Given the description of an element on the screen output the (x, y) to click on. 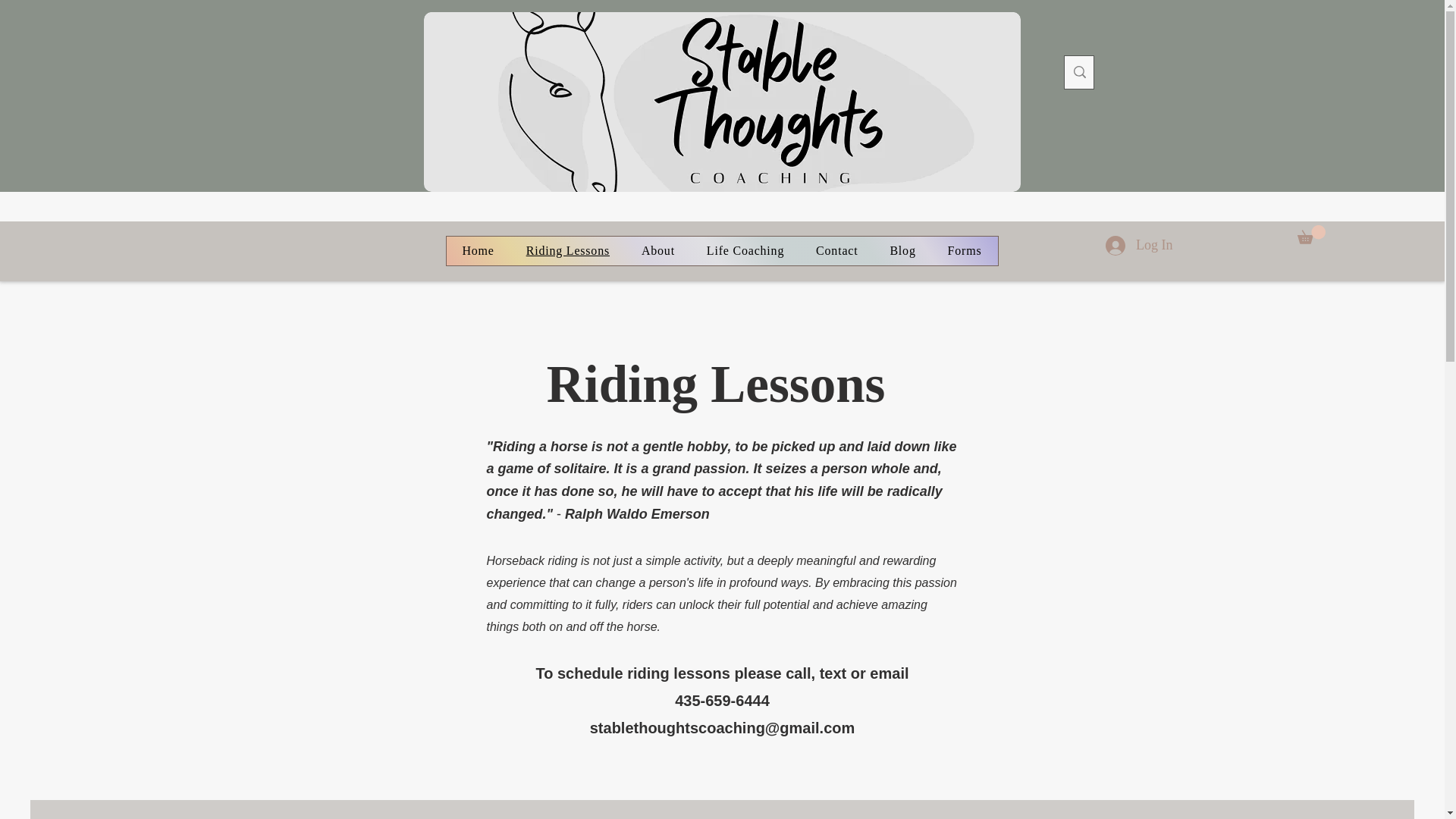
Riding Lessons (568, 250)
Log In (1138, 245)
Contact (836, 250)
Home (477, 250)
Blog (902, 250)
Forms (964, 250)
About (658, 250)
Life Coaching (744, 250)
